Given the description of an element on the screen output the (x, y) to click on. 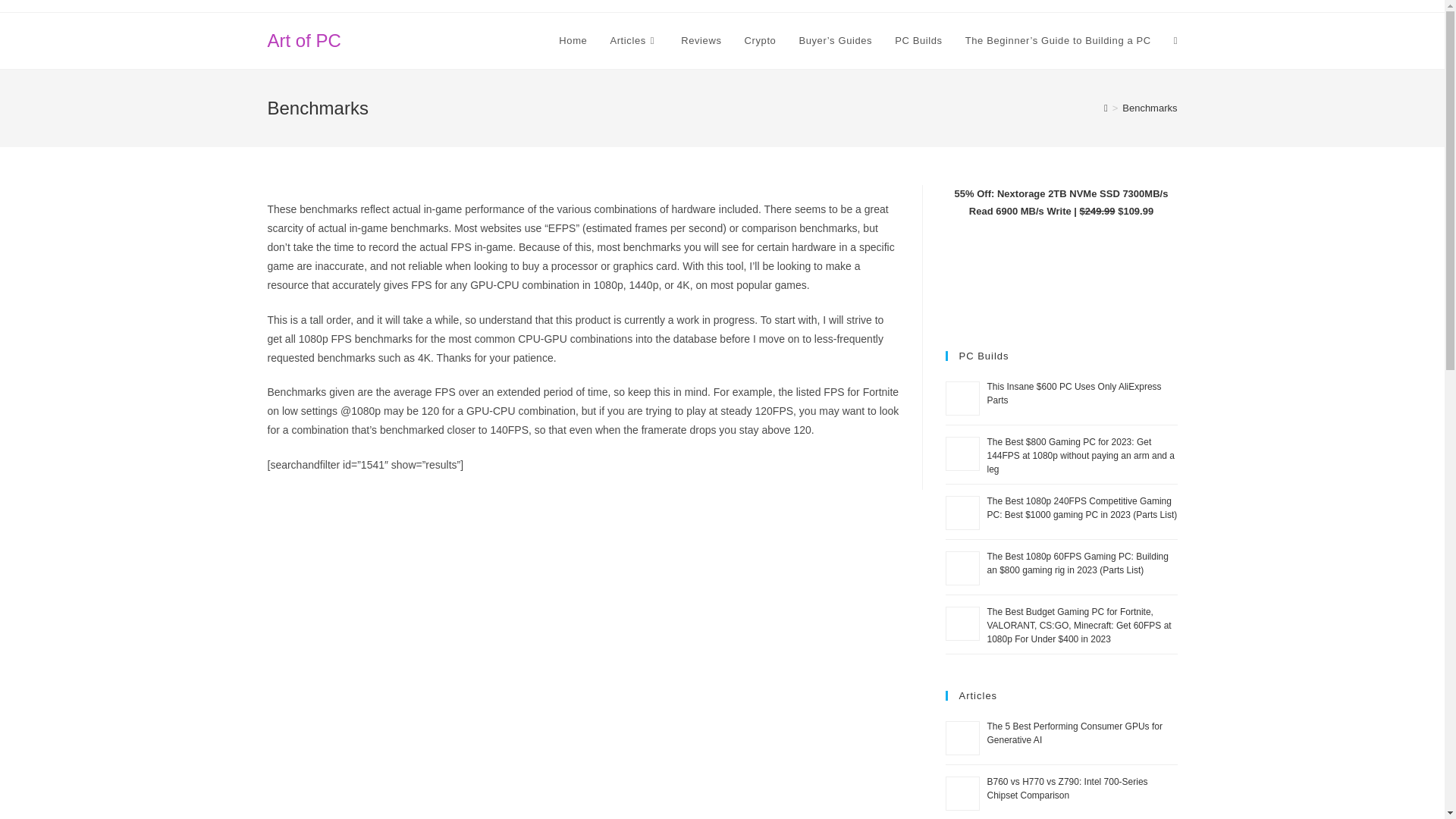
Articles (633, 40)
Art of PC (303, 40)
PC Builds (918, 40)
Benchmarks (1149, 107)
Reviews (700, 40)
Home (572, 40)
Crypto (760, 40)
